Given the description of an element on the screen output the (x, y) to click on. 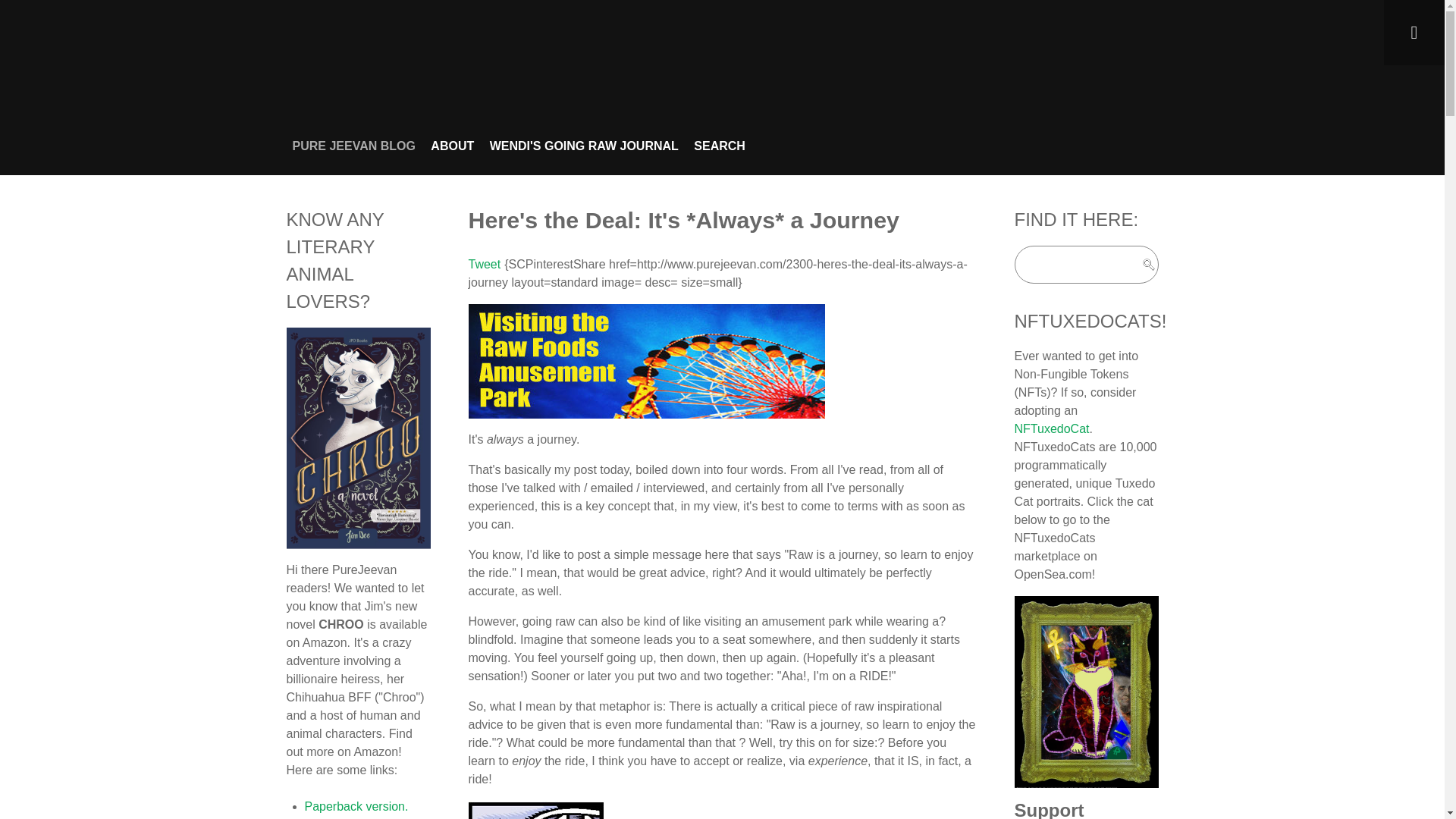
SEARCH (719, 146)
Tweet (484, 264)
Paperback version. (356, 806)
WENDI'S GOING RAW JOURNAL (583, 146)
NFTuxedoCat (1051, 428)
ABOUT (452, 146)
PURE JEEVAN BLOG (353, 146)
